Given the description of an element on the screen output the (x, y) to click on. 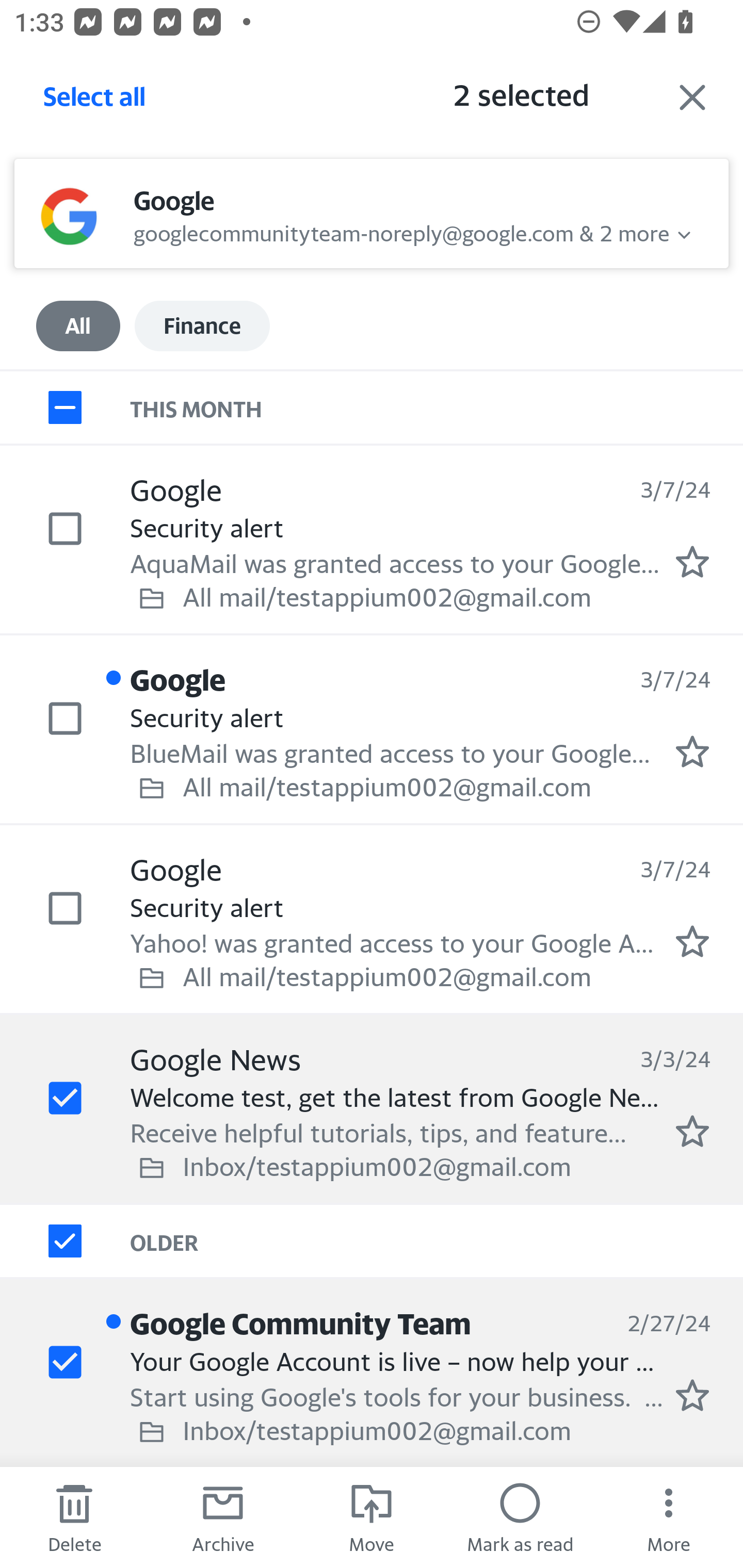
Exit selection mode (692, 97)
Select all (94, 101)
googlecommunityteam-noreply@google.com & 2 more (401, 231)
All (78, 326)
Finance (201, 326)
THIS MONTH (436, 406)
Mark as starred. (692, 562)
Mark as starred. (692, 751)
Mark as starred. (692, 941)
Mark as starred. (692, 1131)
OLDER (436, 1240)
Mark as starred. (692, 1394)
Delete (74, 1517)
Archive (222, 1517)
Move (371, 1517)
Mark as read (519, 1517)
More (668, 1517)
